Given the description of an element on the screen output the (x, y) to click on. 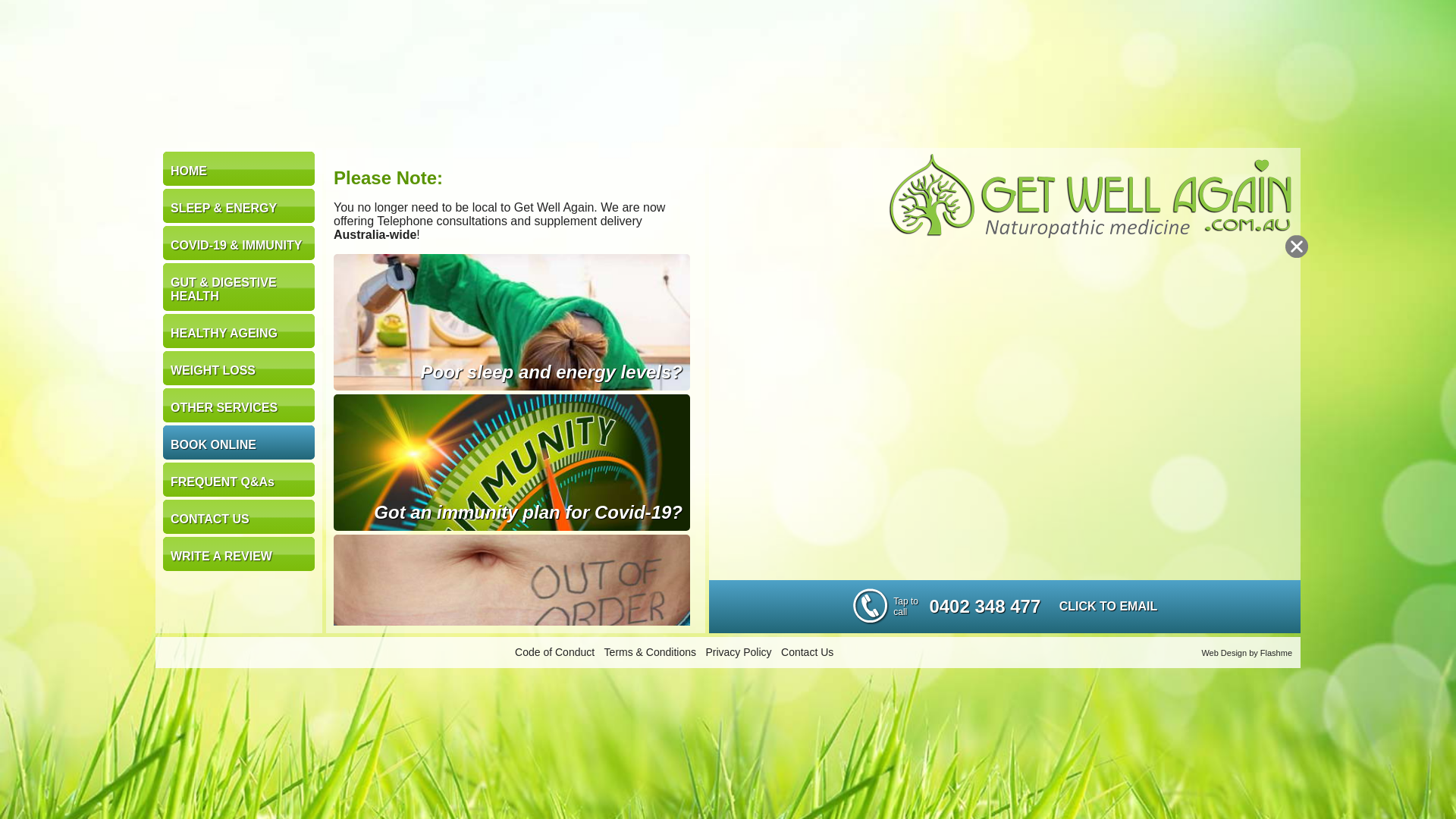
Code of Conduct Element type: text (554, 652)
Got an immunity plan for Covid-19? Element type: text (511, 462)
HEALTHY AGEING Element type: text (238, 330)
SLEEP & ENERGY Element type: text (238, 205)
YouTube video player Element type: hover (1004, 408)
Terms & Conditions Element type: text (649, 652)
WEIGHT LOSS Element type: text (238, 368)
OTHER SERVICES Element type: text (238, 405)
GUT & DIGESTIVE HEALTH Element type: text (238, 286)
Poor sleep and energy levels? Element type: text (511, 322)
Privacy Policy Element type: text (737, 652)
Contact Us Element type: text (806, 652)
Web Design by Flashme Element type: text (1246, 652)
click here Element type: hover (511, 602)
HOME Element type: text (238, 168)
FREQUENT Q&As Element type: text (238, 479)
WRITE A REVIEW Element type: text (238, 553)
CONTACT US Element type: text (238, 516)
COVID-19 & IMMUNITY Element type: text (238, 242)
BOOK ONLINE Element type: text (238, 442)
